Given the description of an element on the screen output the (x, y) to click on. 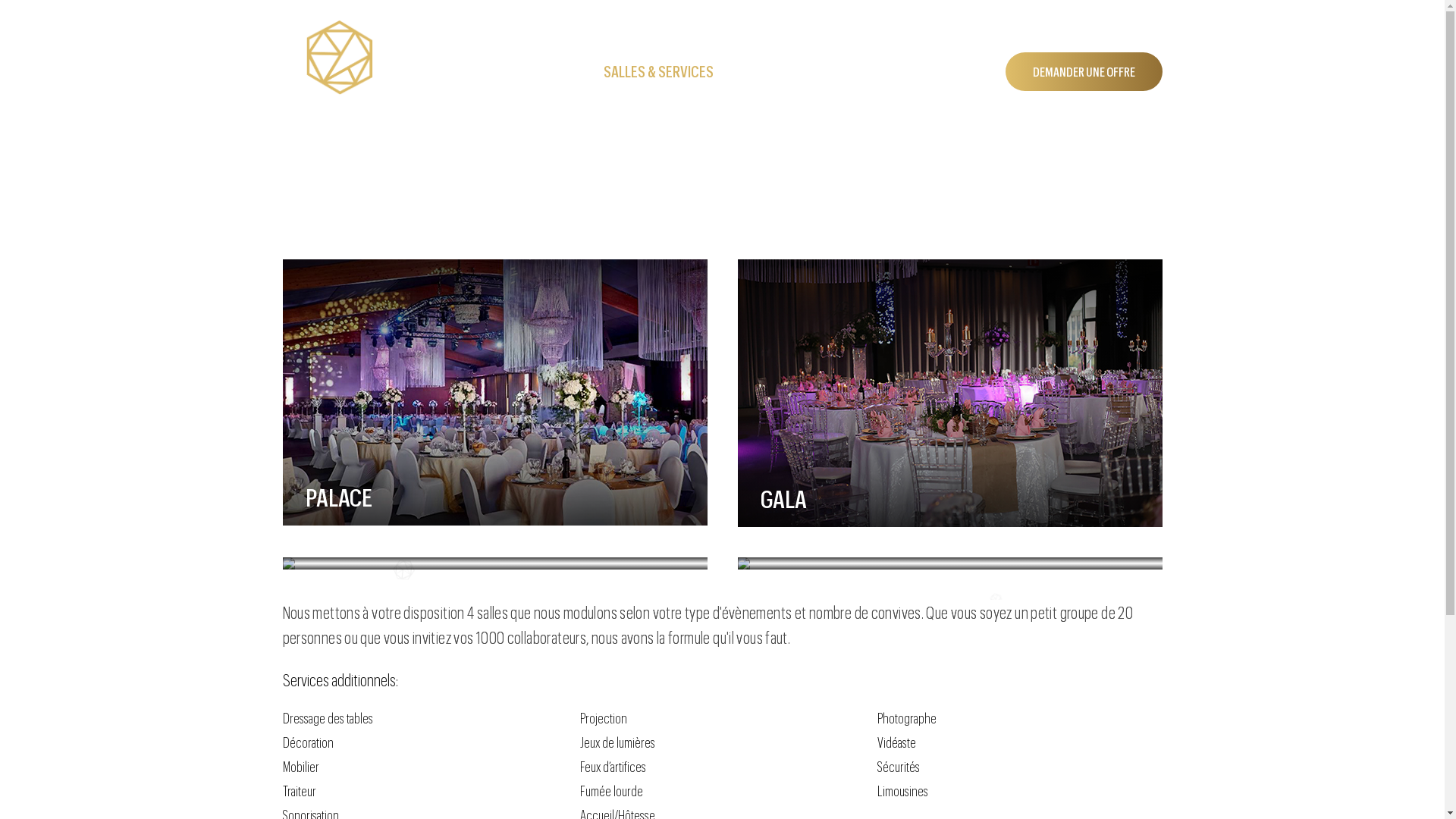
DEMANDER UNE OFFRE Element type: text (1083, 71)
ACCUEIL Element type: text (554, 71)
GALERIE Element type: text (810, 71)
INFOS PRATIQUES Element type: text (931, 71)
GALA Element type: text (949, 393)
PALACE Element type: text (494, 392)
SALLES & SERVICES Element type: text (682, 71)
